Given the description of an element on the screen output the (x, y) to click on. 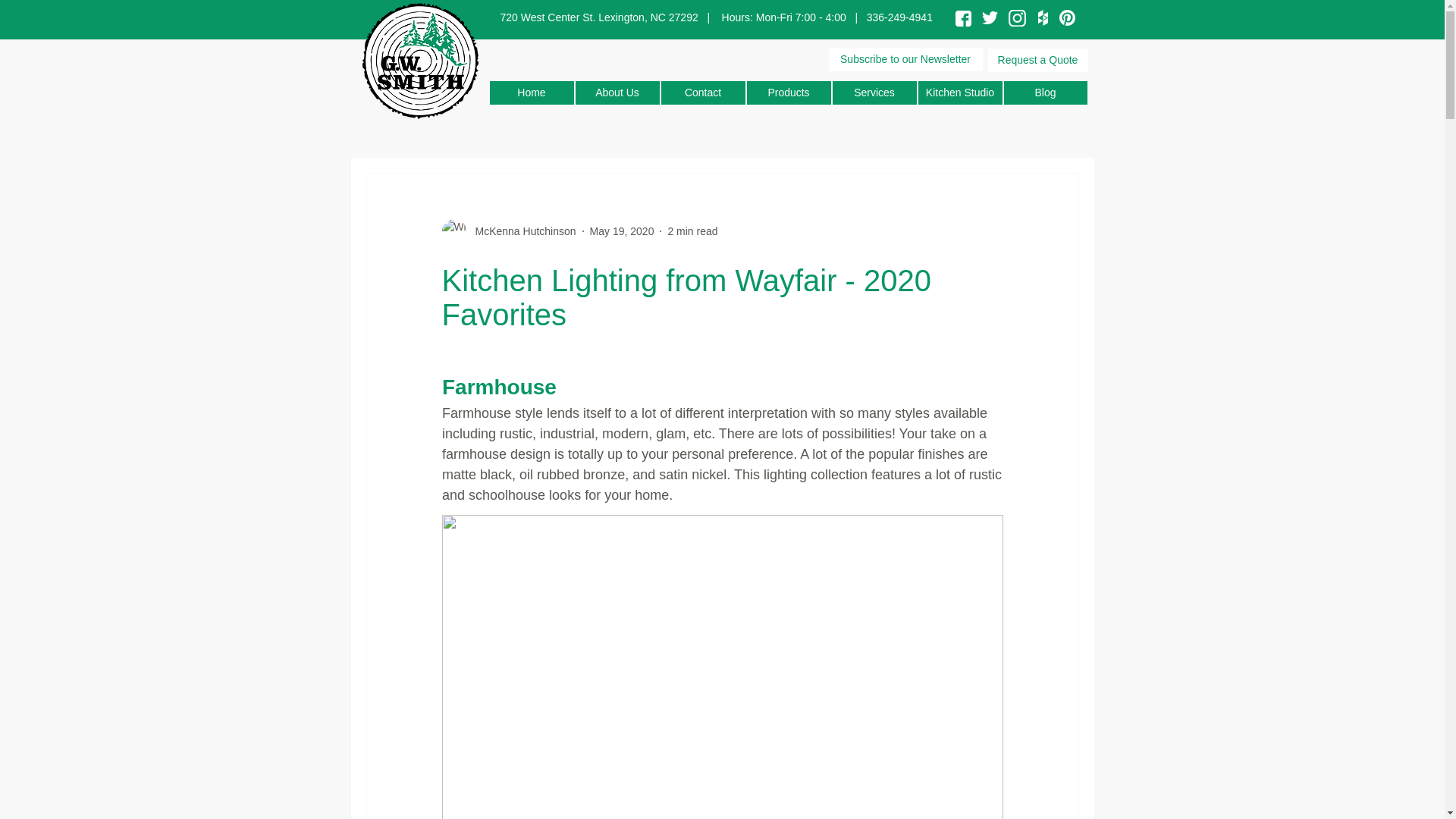
2 min read (691, 230)
Home (531, 92)
May 19, 2020 (621, 230)
About Us (617, 92)
Products (787, 92)
McKenna Hutchinson (520, 230)
Contact (703, 92)
Blog (1045, 92)
Request a Quote (1037, 60)
Services (874, 92)
Subscribe to our Newsletter (904, 59)
